Given the description of an element on the screen output the (x, y) to click on. 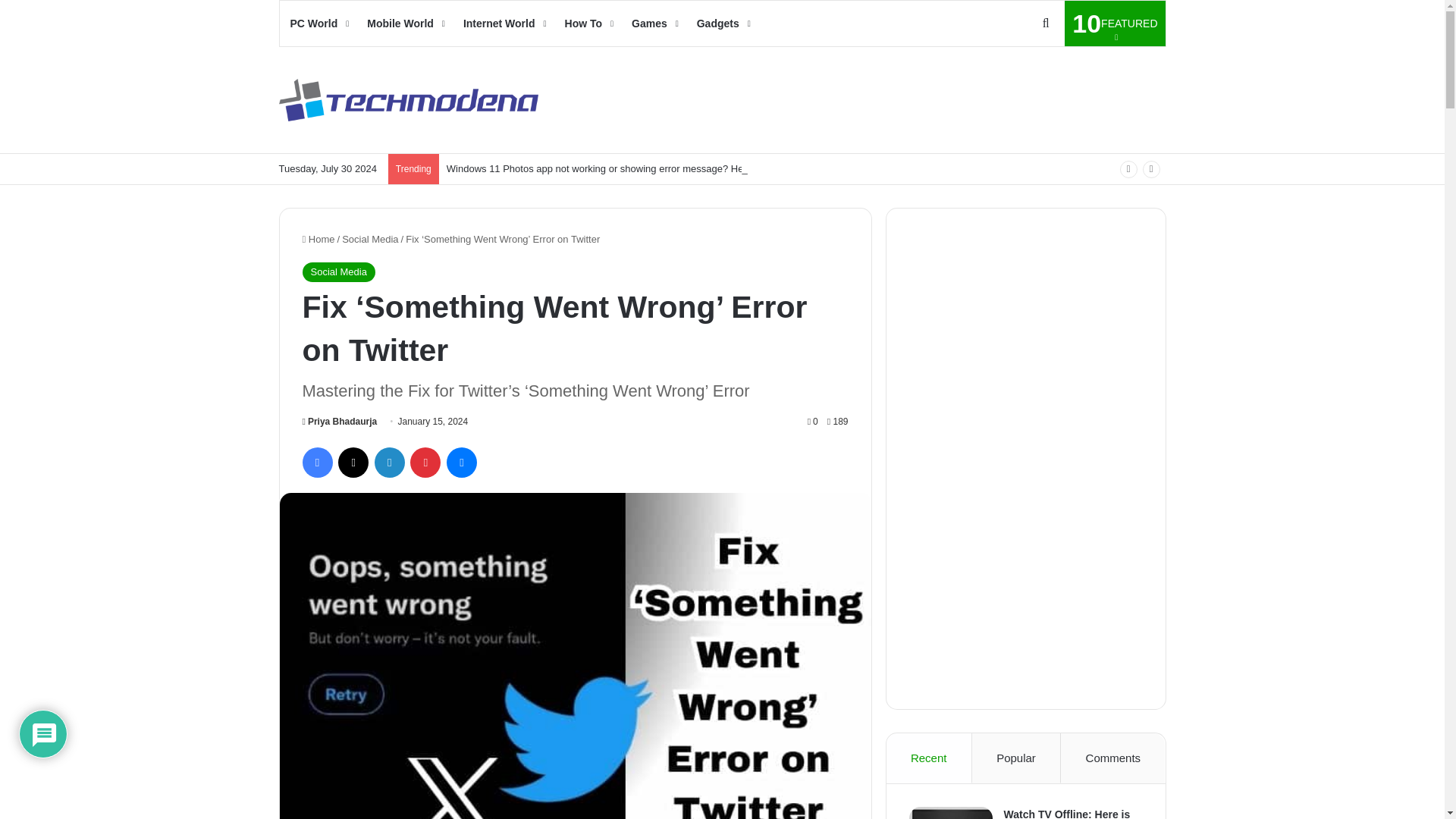
Facebook (316, 462)
How To (587, 22)
X (352, 462)
Priya Bhadaurja (339, 421)
Social Media (369, 238)
TECHMODENA (408, 99)
PC World (317, 22)
Gadgets (721, 22)
Mobile World (404, 22)
Home (1114, 22)
Games (317, 238)
Social Media (653, 22)
Priya Bhadaurja (337, 271)
Internet World (339, 421)
